Given the description of an element on the screen output the (x, y) to click on. 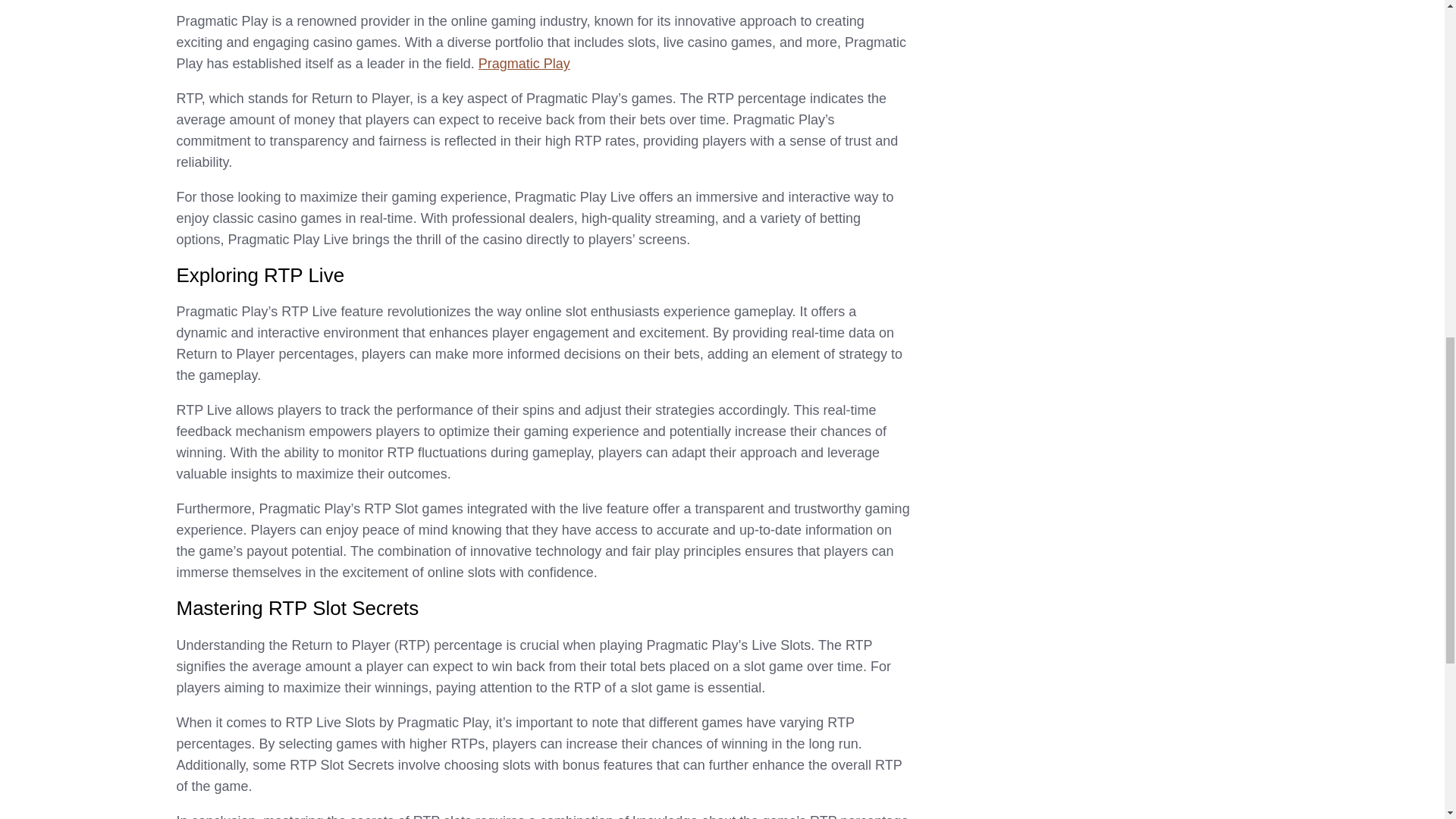
Pragmatic Play (524, 63)
